Given the description of an element on the screen output the (x, y) to click on. 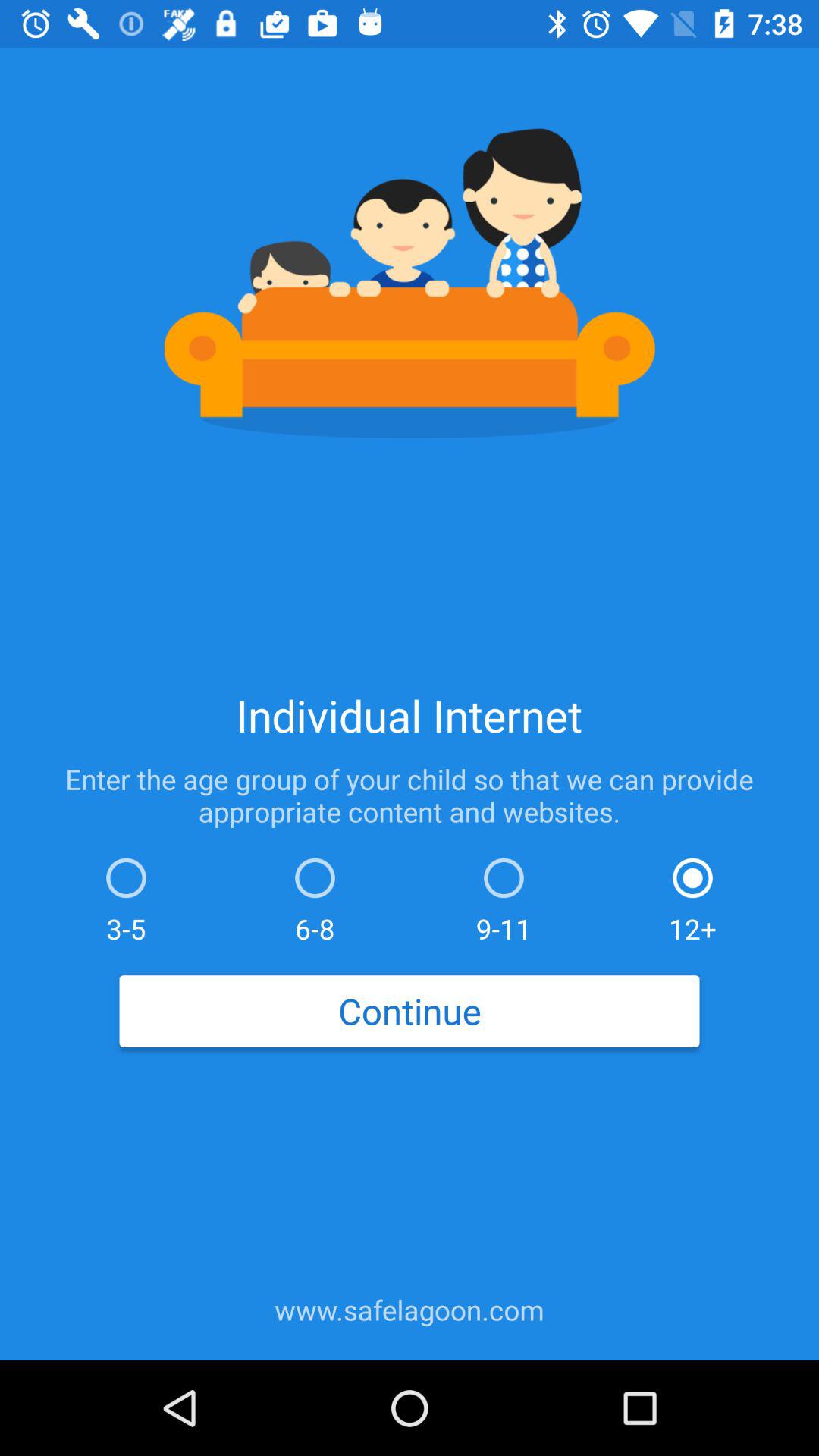
turn on the icon next to 12+ (503, 896)
